Given the description of an element on the screen output the (x, y) to click on. 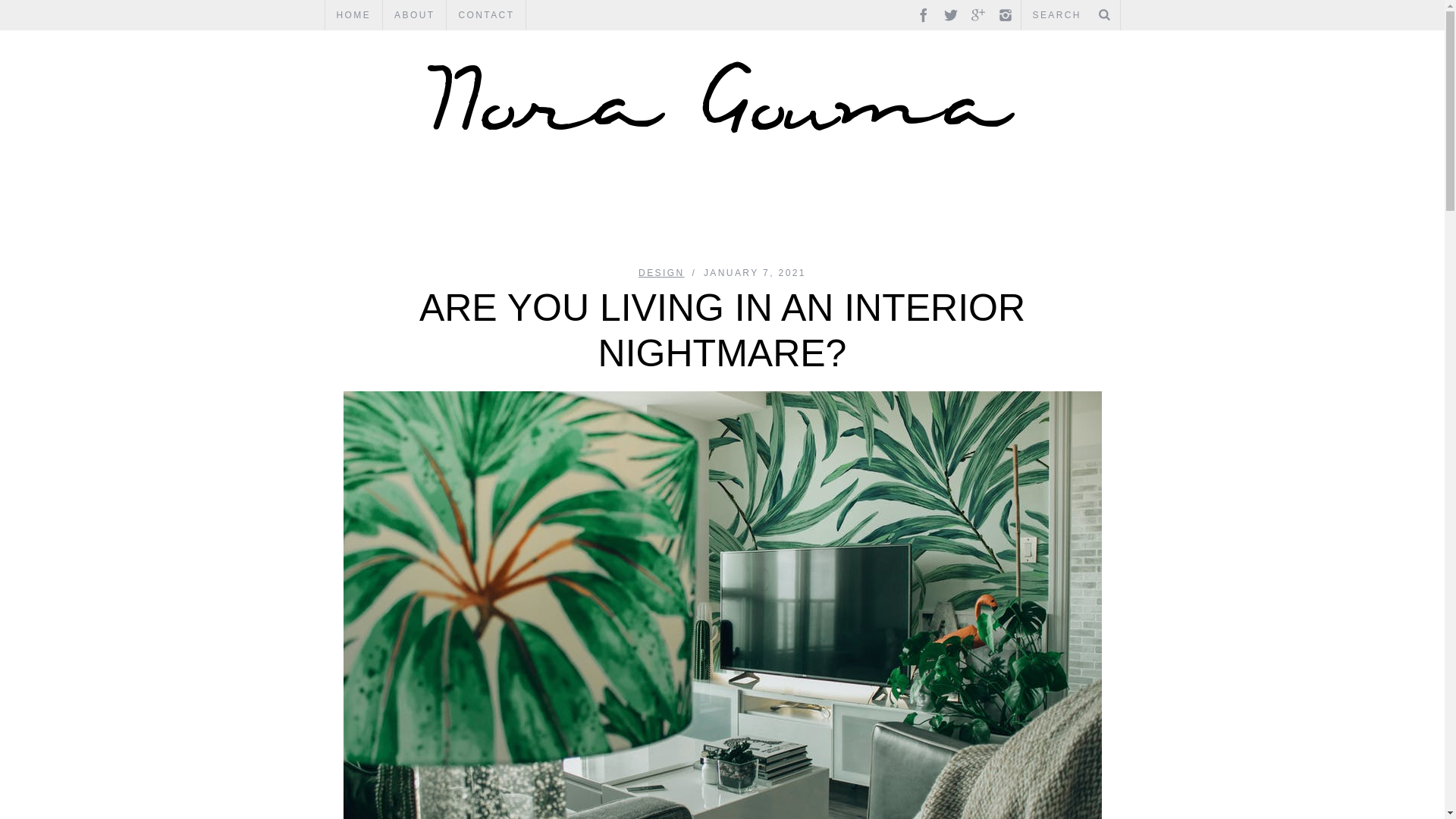
ABOUT (413, 14)
CONTACT (485, 14)
Search (1070, 15)
 -  (722, 96)
HOME (352, 14)
